Given the description of an element on the screen output the (x, y) to click on. 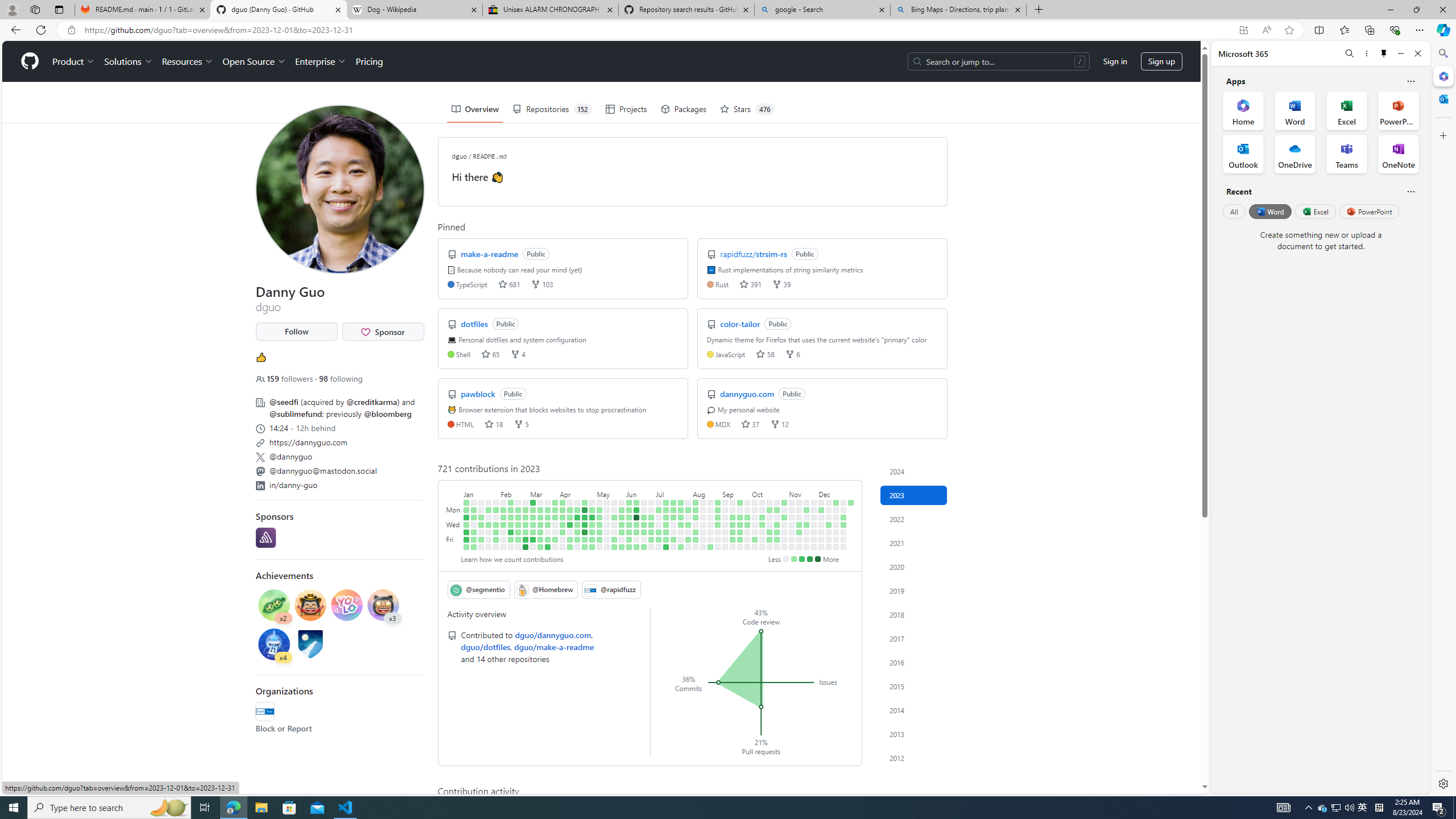
No contributions on July 1st. (651, 546)
No contributions on July 5th. (658, 524)
1 contribution on December 17th. (836, 502)
16 contributions on April 26th. (585, 524)
No contributions on June 25th. (651, 502)
1 contribution on January 14th. (473, 546)
13 contributions on February 16th. (510, 531)
Contribution activity in 2015 (913, 686)
Word (1269, 210)
No contributions on December 11th. (828, 509)
3 contributions on February 1st. (496, 524)
5 contributions on May 3rd. (592, 524)
9 contributions on June 12th. (636, 509)
1 contribution on June 9th. (628, 539)
